Given the description of an element on the screen output the (x, y) to click on. 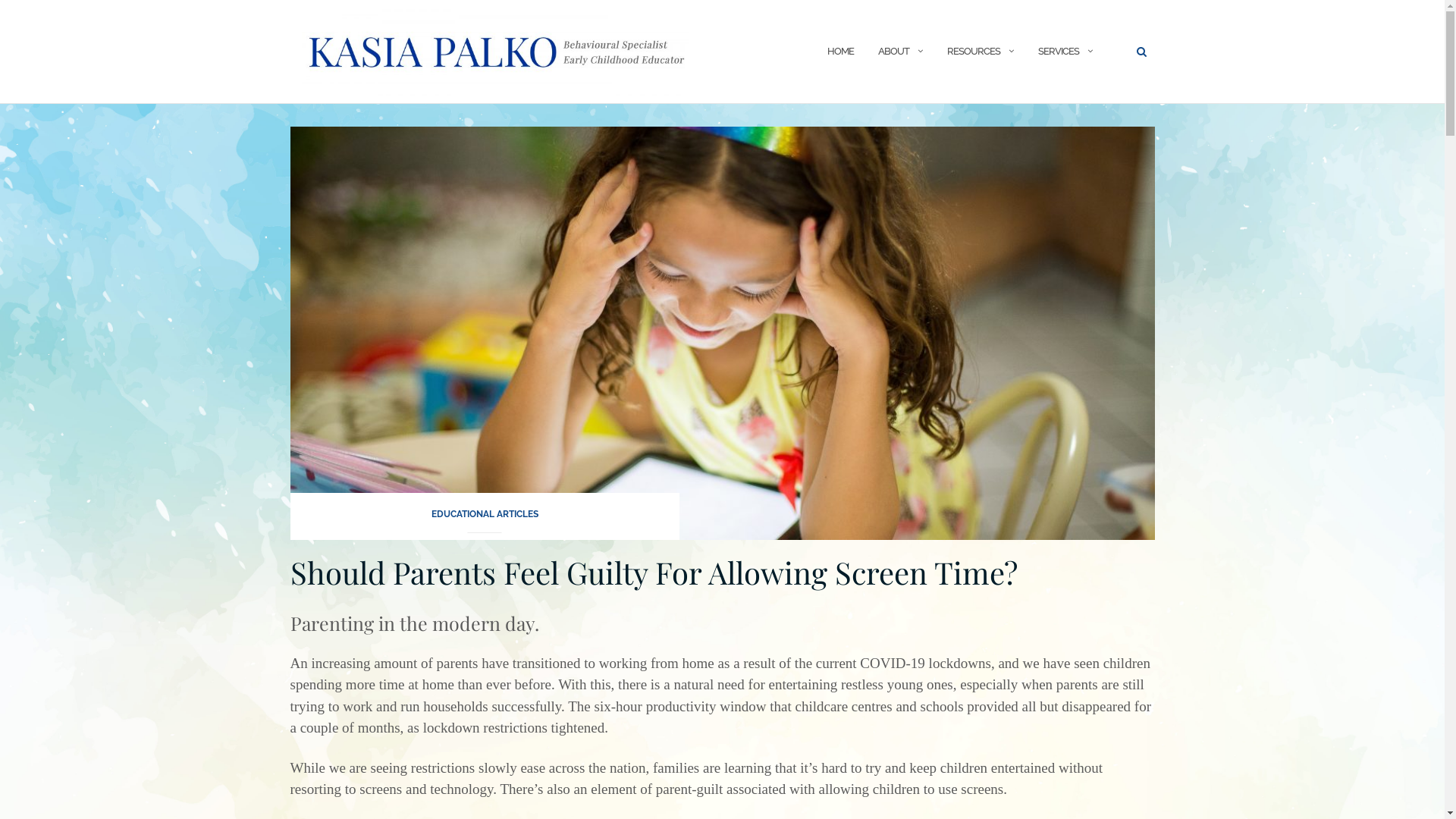
HOME Element type: text (839, 51)
Should Parents Feel Guilty For Allowing Screen Time? Element type: text (652, 572)
RESOURCES Element type: text (972, 51)
EDUCATIONAL ARTICLES Element type: text (483, 519)
SERVICES Element type: text (1057, 51)
ABOUT Element type: text (893, 51)
